Given the description of an element on the screen output the (x, y) to click on. 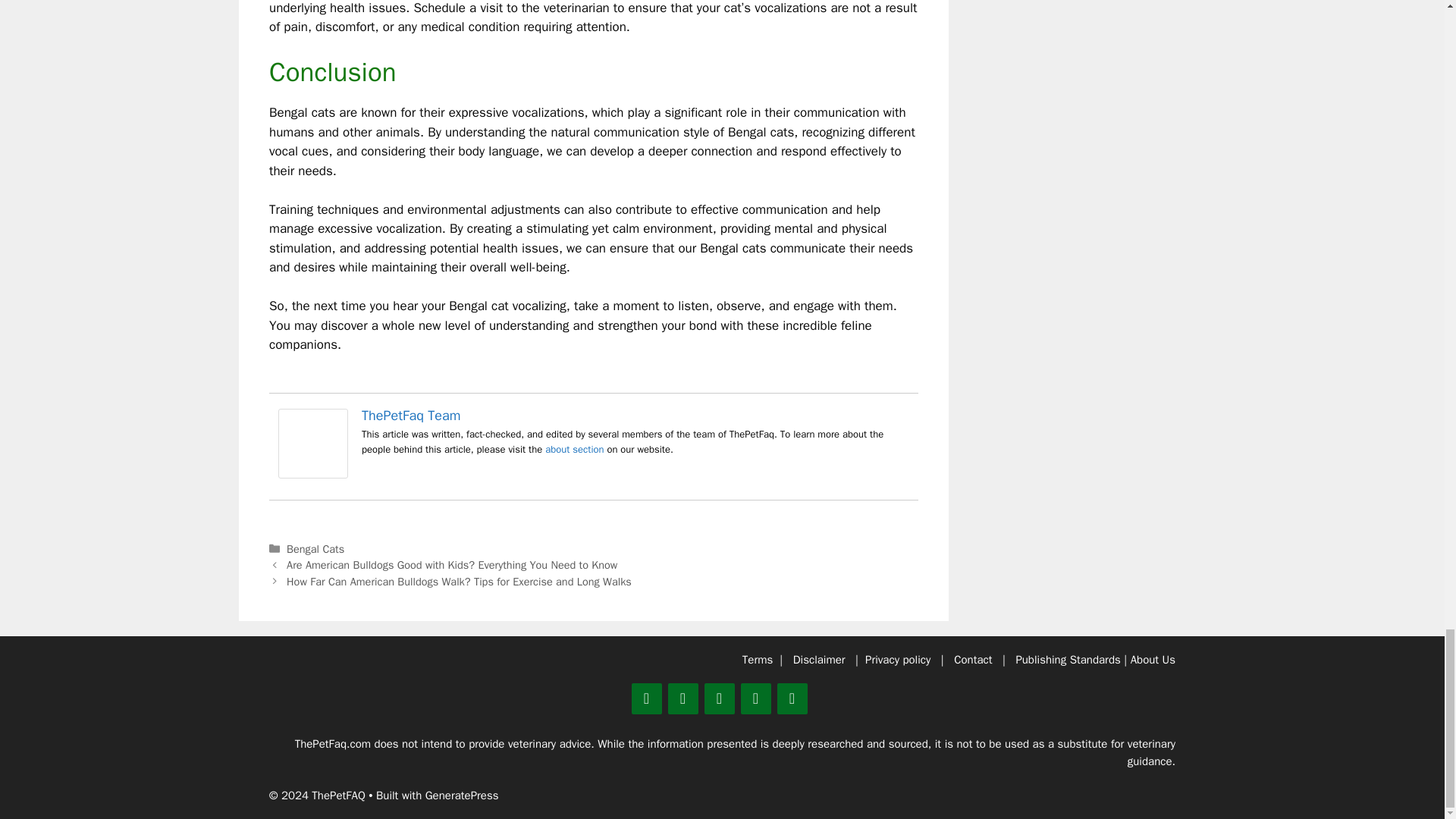
Facebook (718, 698)
Pinterest (681, 698)
ThePetFaq Team (411, 415)
Twitter (645, 698)
ThePetFaq Team (312, 474)
YouTube (791, 698)
Instagram (754, 698)
about section (574, 449)
